Given the description of an element on the screen output the (x, y) to click on. 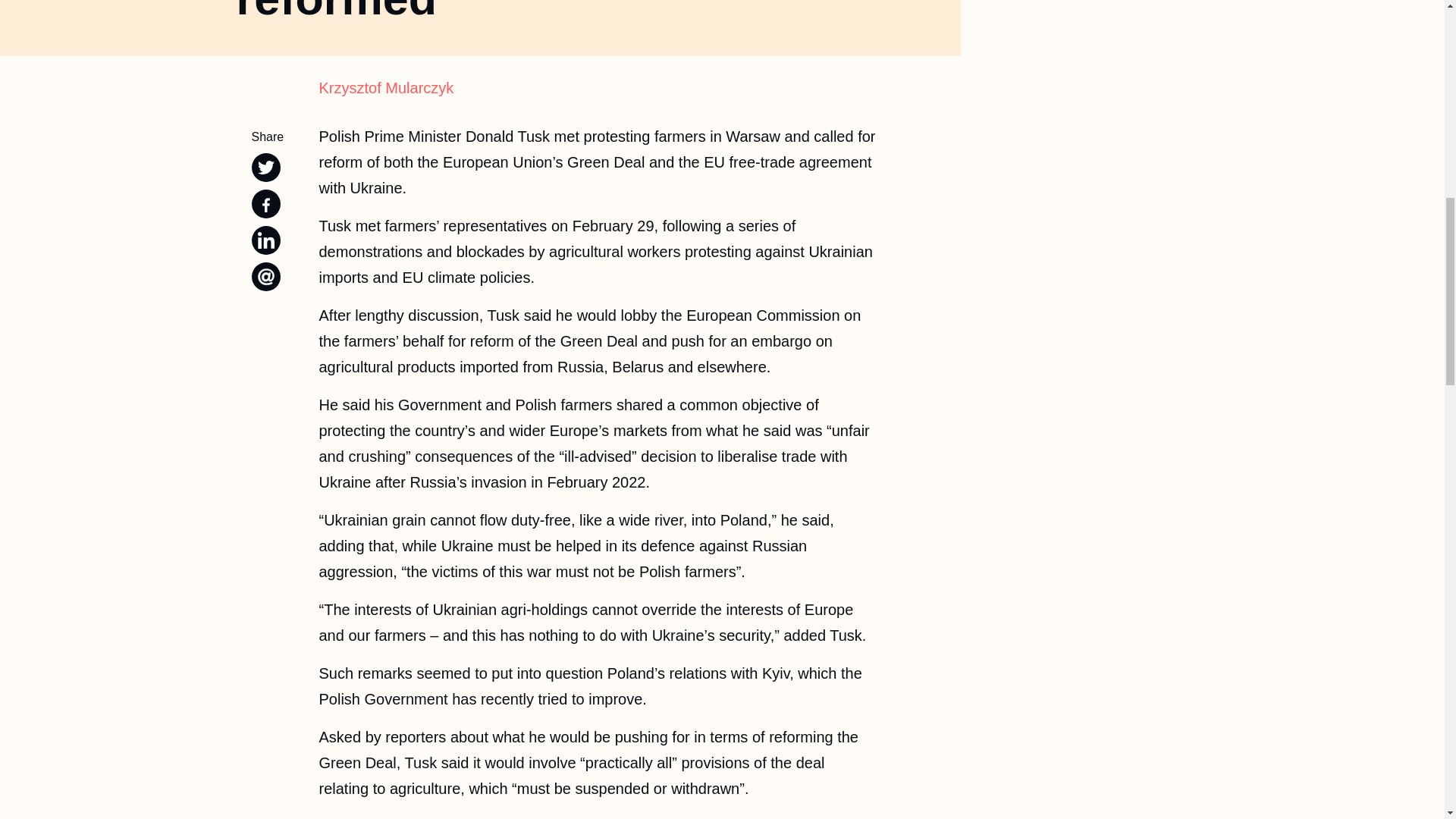
Krzysztof Mularczyk (597, 87)
